Given the description of an element on the screen output the (x, y) to click on. 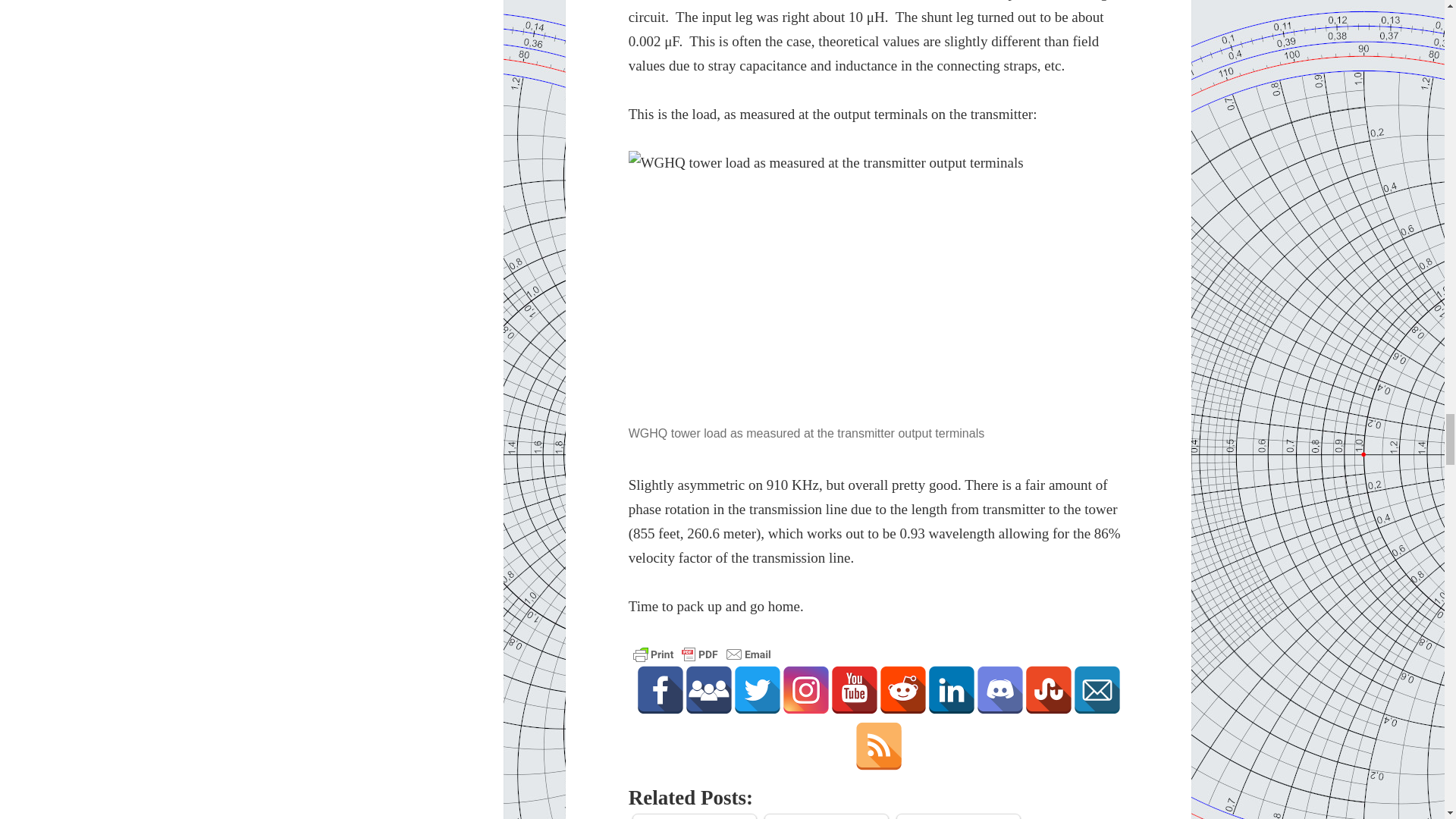
Reddit (903, 689)
Email (1097, 689)
Facebook (660, 689)
Twitter (757, 689)
RSS Feed (878, 745)
StumbleUpon (1049, 689)
YouTube (854, 689)
Discord (1000, 689)
LinkedIn (951, 689)
Facebook Group (708, 689)
Instagram (805, 689)
